Given the description of an element on the screen output the (x, y) to click on. 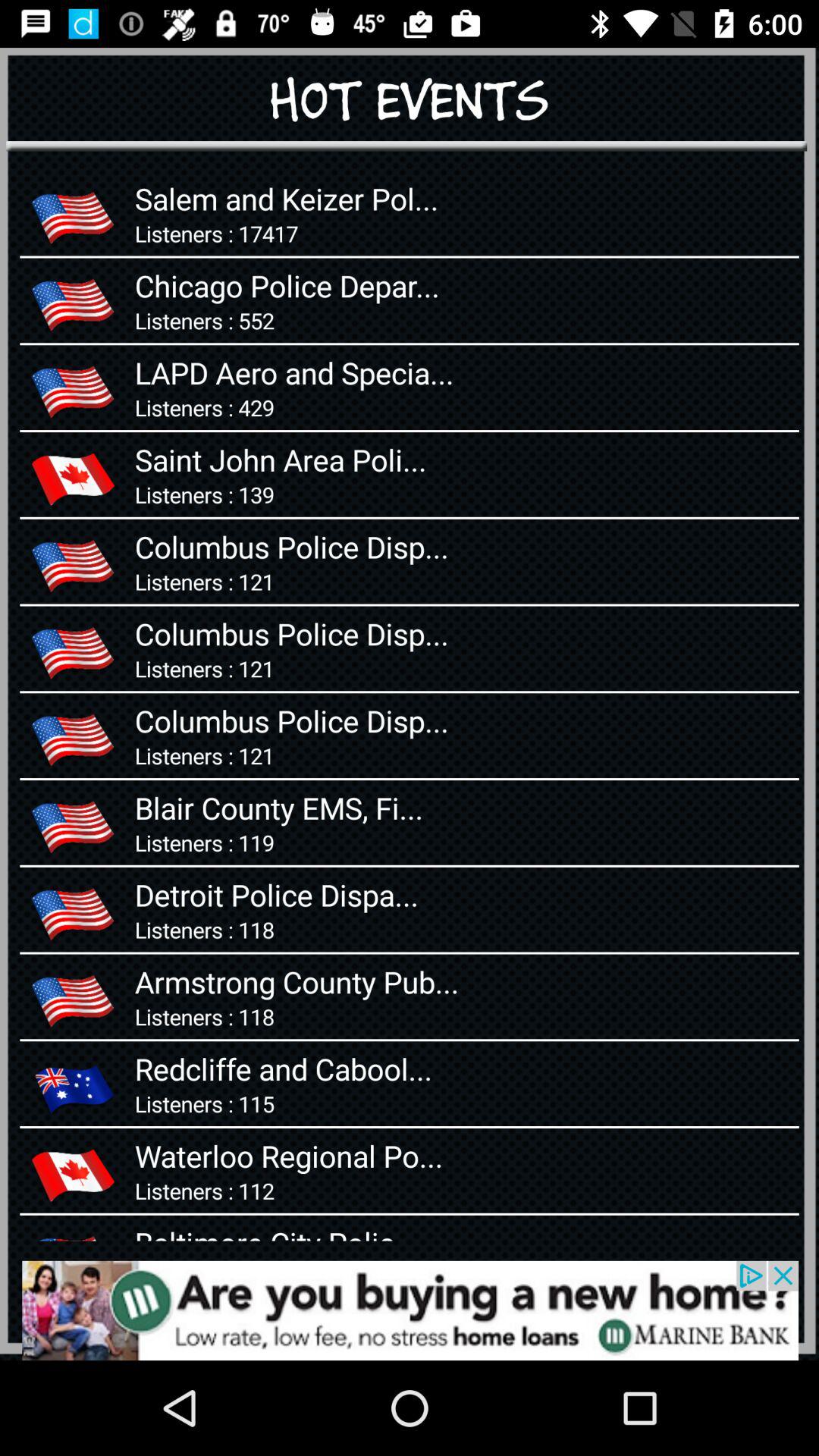
advertisement (409, 1310)
